Given the description of an element on the screen output the (x, y) to click on. 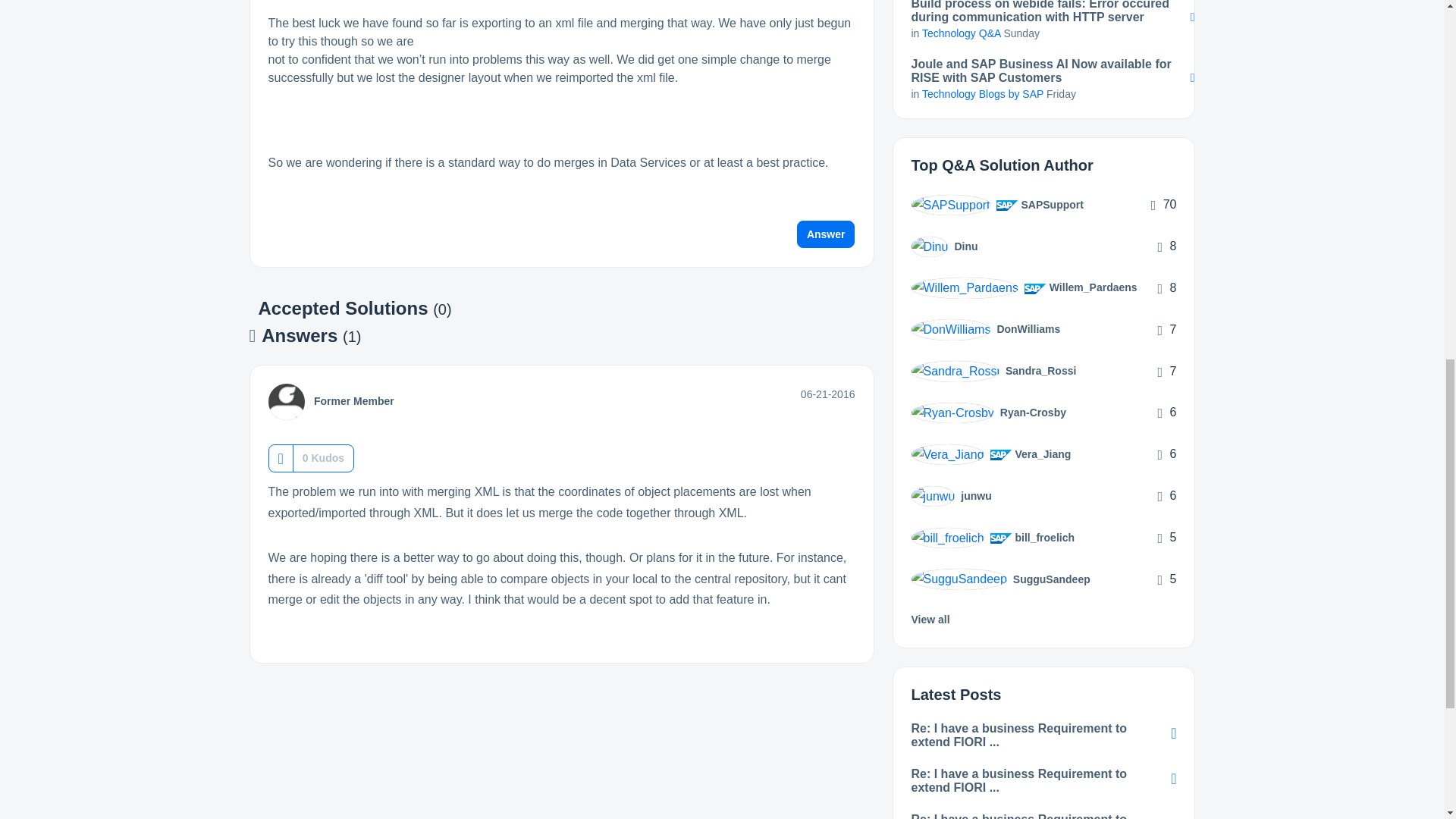
Posted on (828, 394)
The total number of kudos this post has received. (323, 457)
Answer (826, 234)
